Given the description of an element on the screen output the (x, y) to click on. 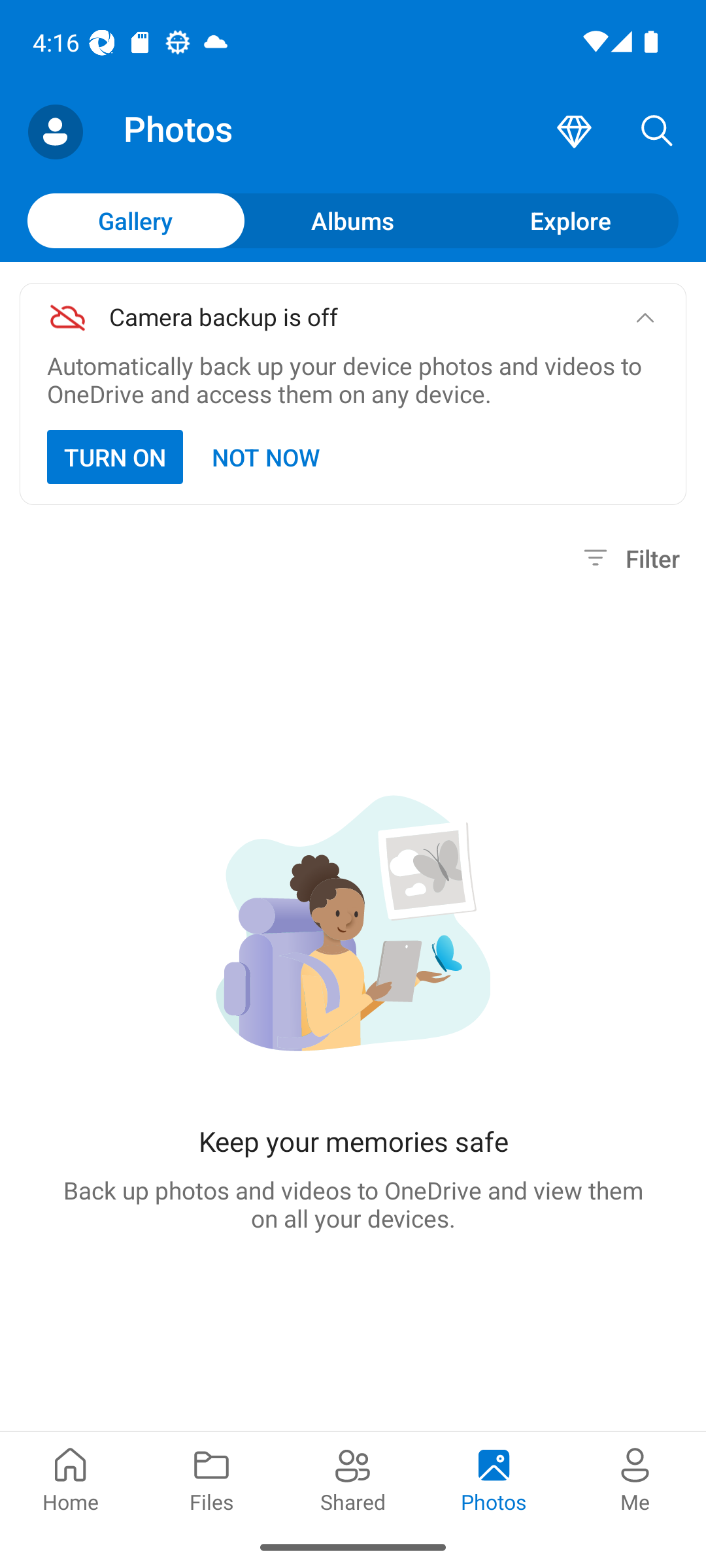
Account switcher (55, 131)
Premium button (574, 131)
Search button (656, 131)
Albums (352, 219)
Explore (569, 219)
Collapse camera status banner (645, 318)
TURN ON (114, 456)
NOT NOW (266, 456)
Filter (628, 557)
Home pivot Home (70, 1478)
Files pivot Files (211, 1478)
Shared pivot Shared (352, 1478)
Me pivot Me (635, 1478)
